Given the description of an element on the screen output the (x, y) to click on. 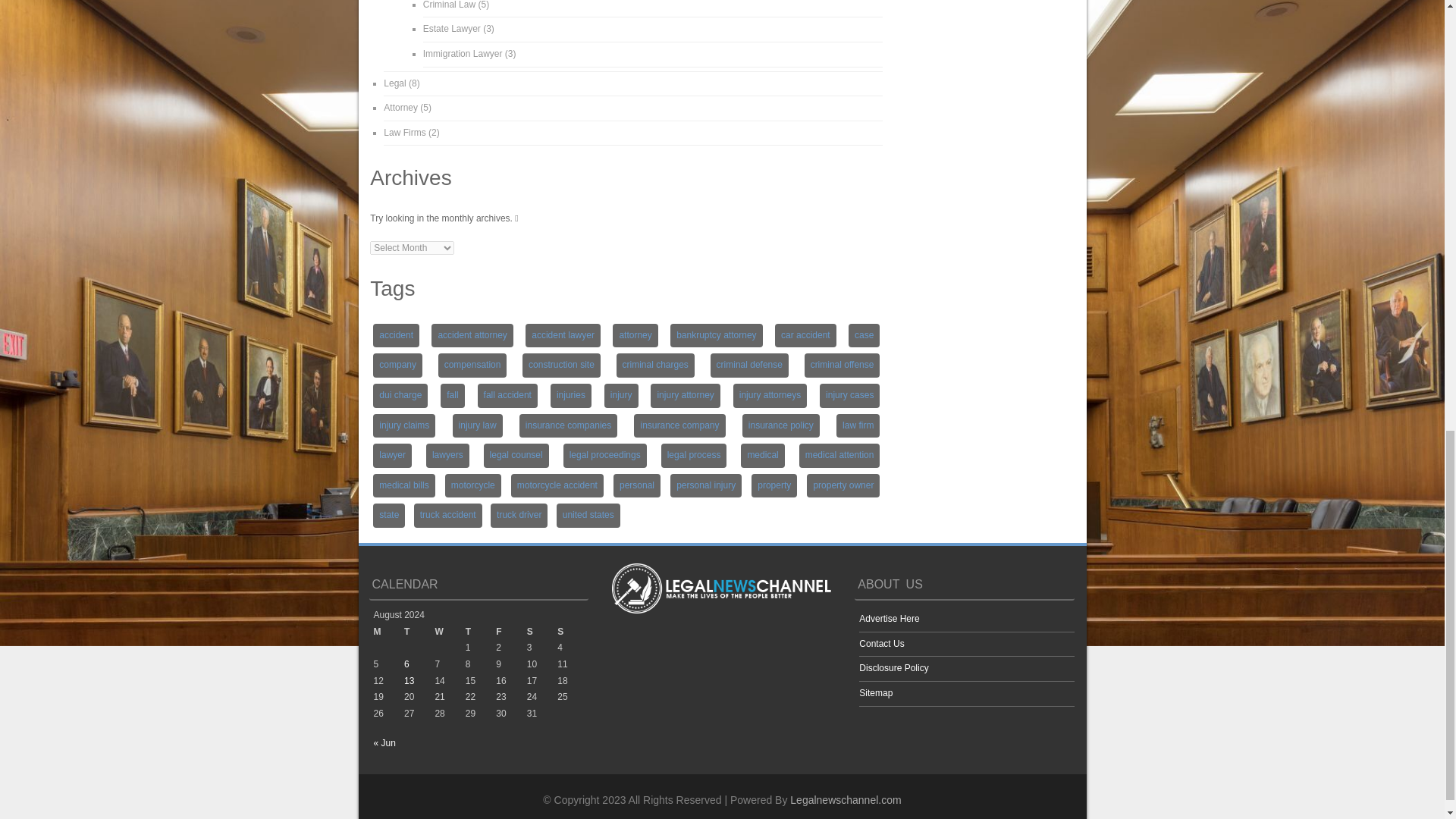
Sunday (572, 632)
Wednesday (448, 632)
Tuesday (418, 632)
Thursday (480, 632)
Saturday (542, 632)
Monday (387, 632)
Friday (510, 632)
